Given the description of an element on the screen output the (x, y) to click on. 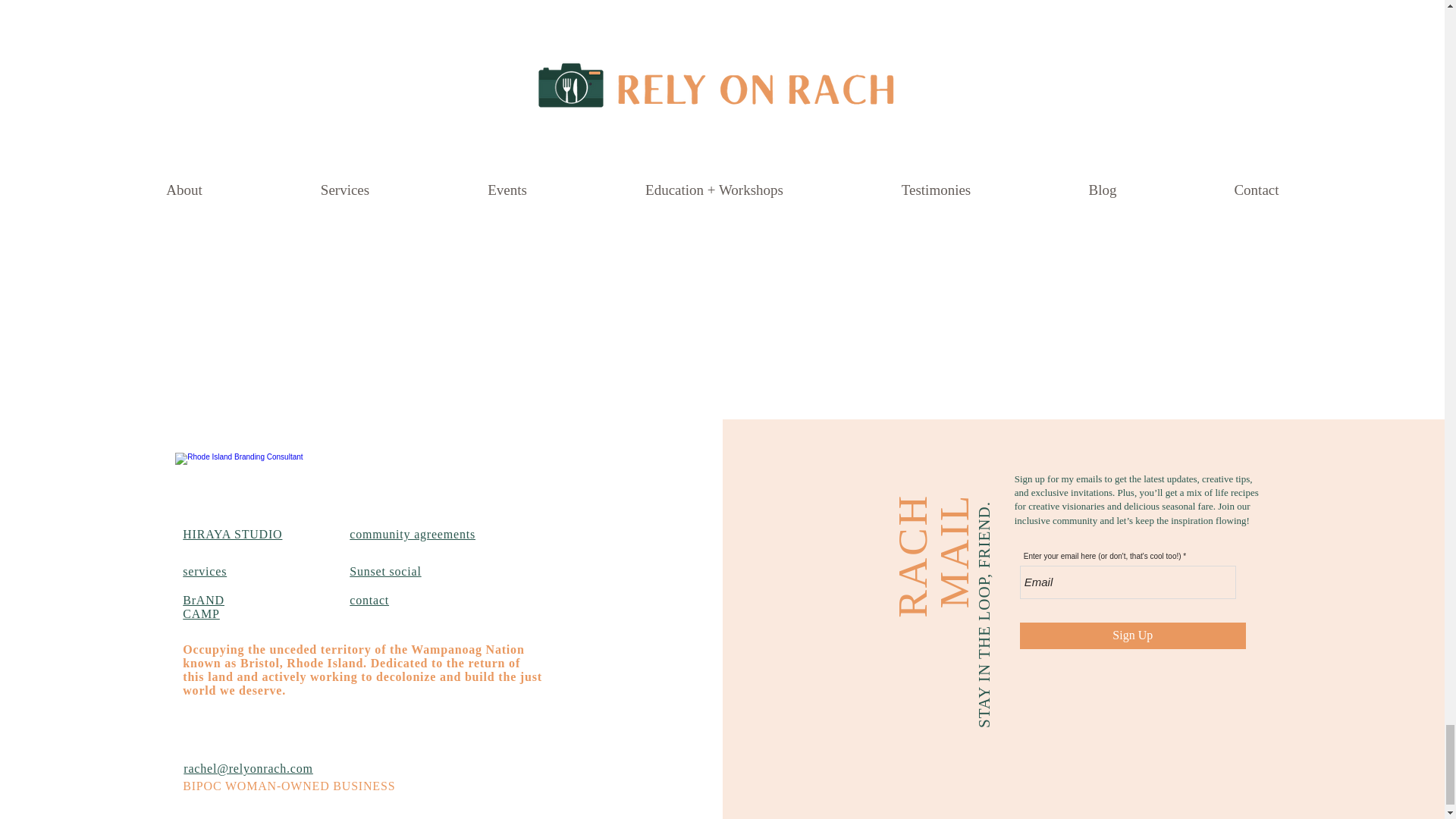
contact (368, 599)
Sign Up (1133, 635)
services (205, 571)
Sunset social (384, 571)
HIRAYA STUDIO (232, 533)
BrAND CAMP (203, 606)
community agreements (412, 533)
